Given the description of an element on the screen output the (x, y) to click on. 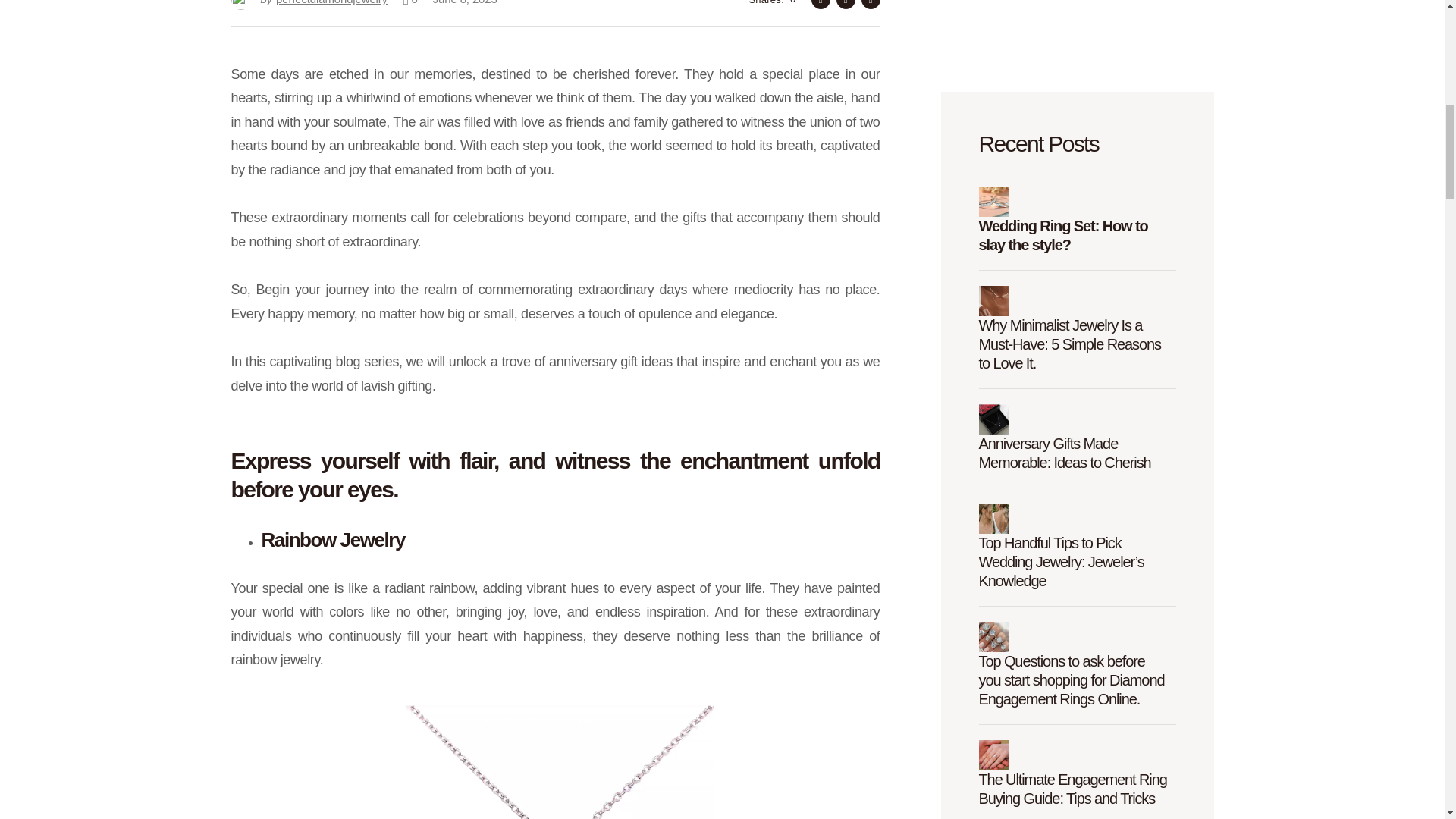
View all posts by perfectdiamondjewelry (308, 6)
